Given the description of an element on the screen output the (x, y) to click on. 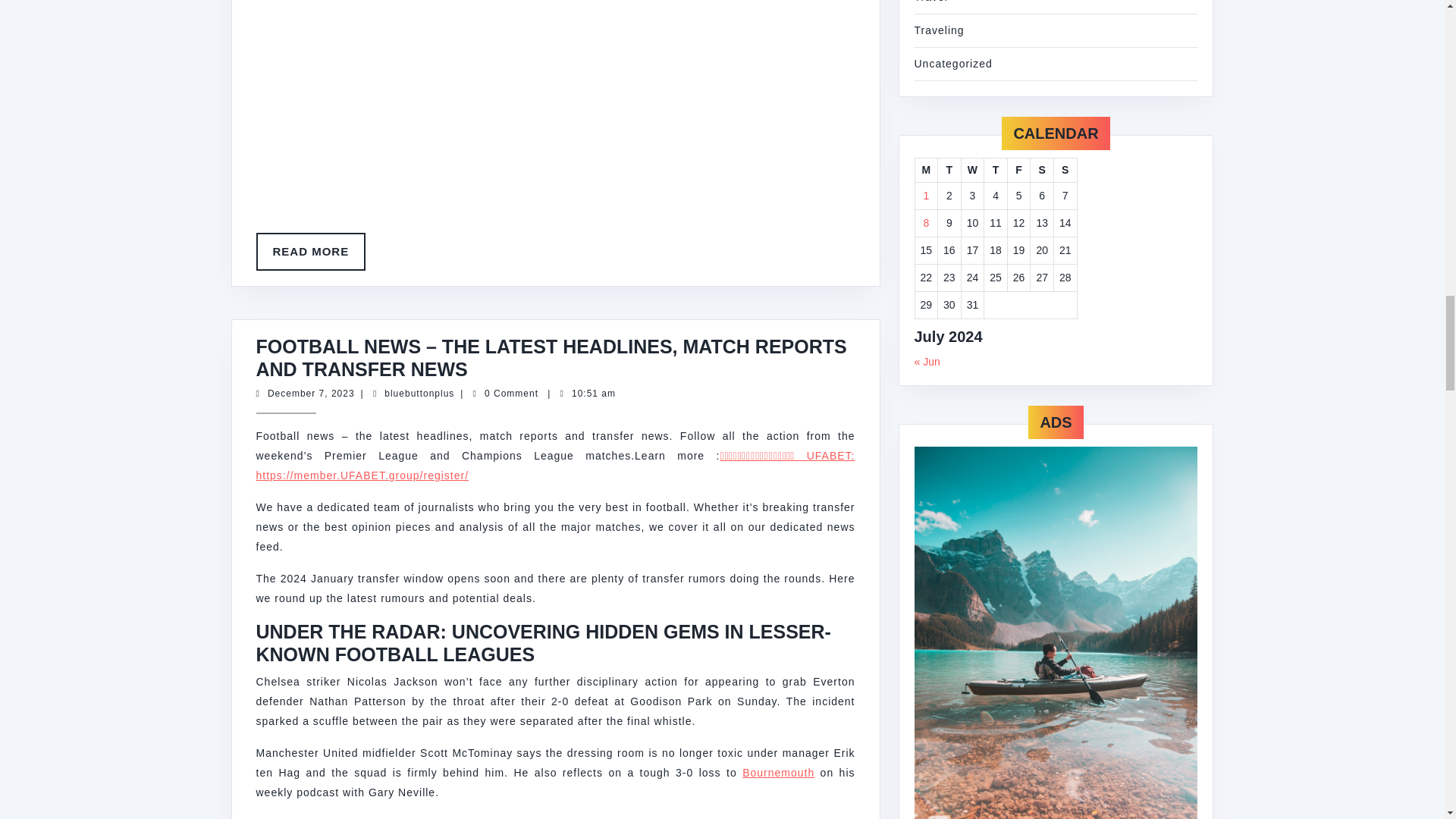
Monday (311, 393)
Thursday (925, 170)
Friday (995, 170)
Saturday (311, 251)
Sunday (1018, 170)
Bournemouth (419, 393)
Tuesday (1042, 170)
Wednesday (1064, 170)
